Given the description of an element on the screen output the (x, y) to click on. 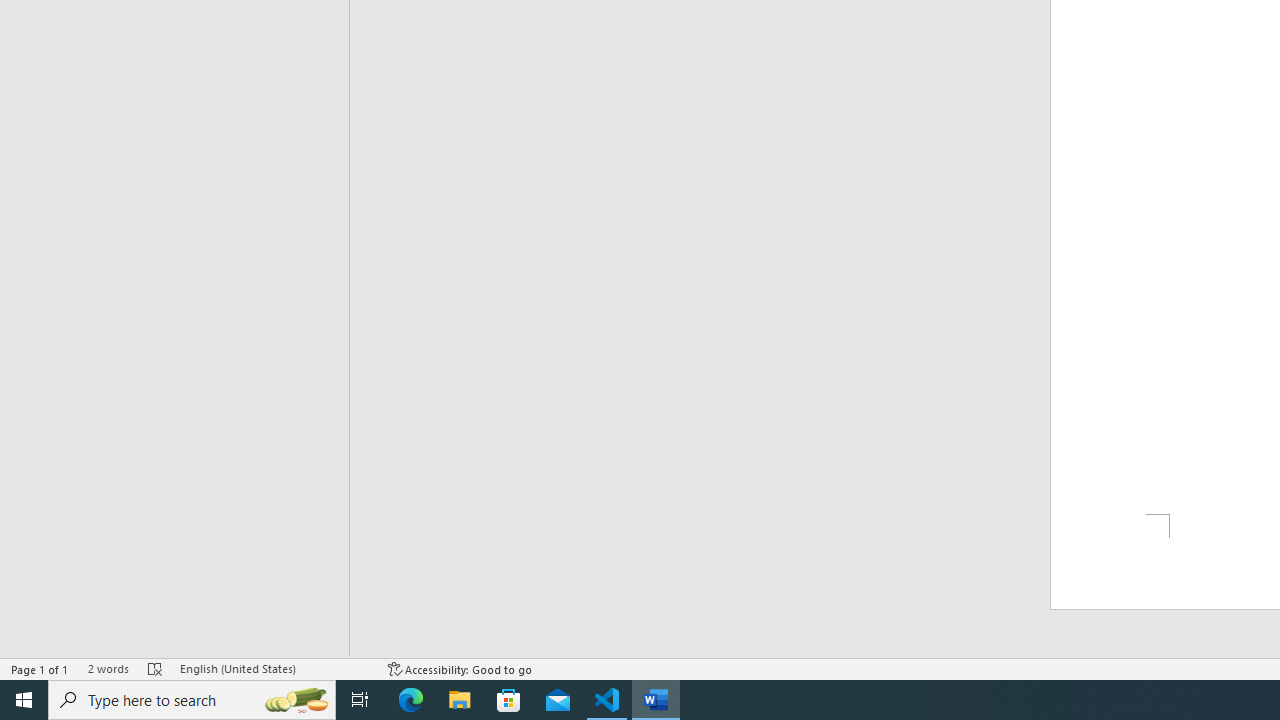
Page Number Page 1 of 1 (39, 668)
